Given the description of an element on the screen output the (x, y) to click on. 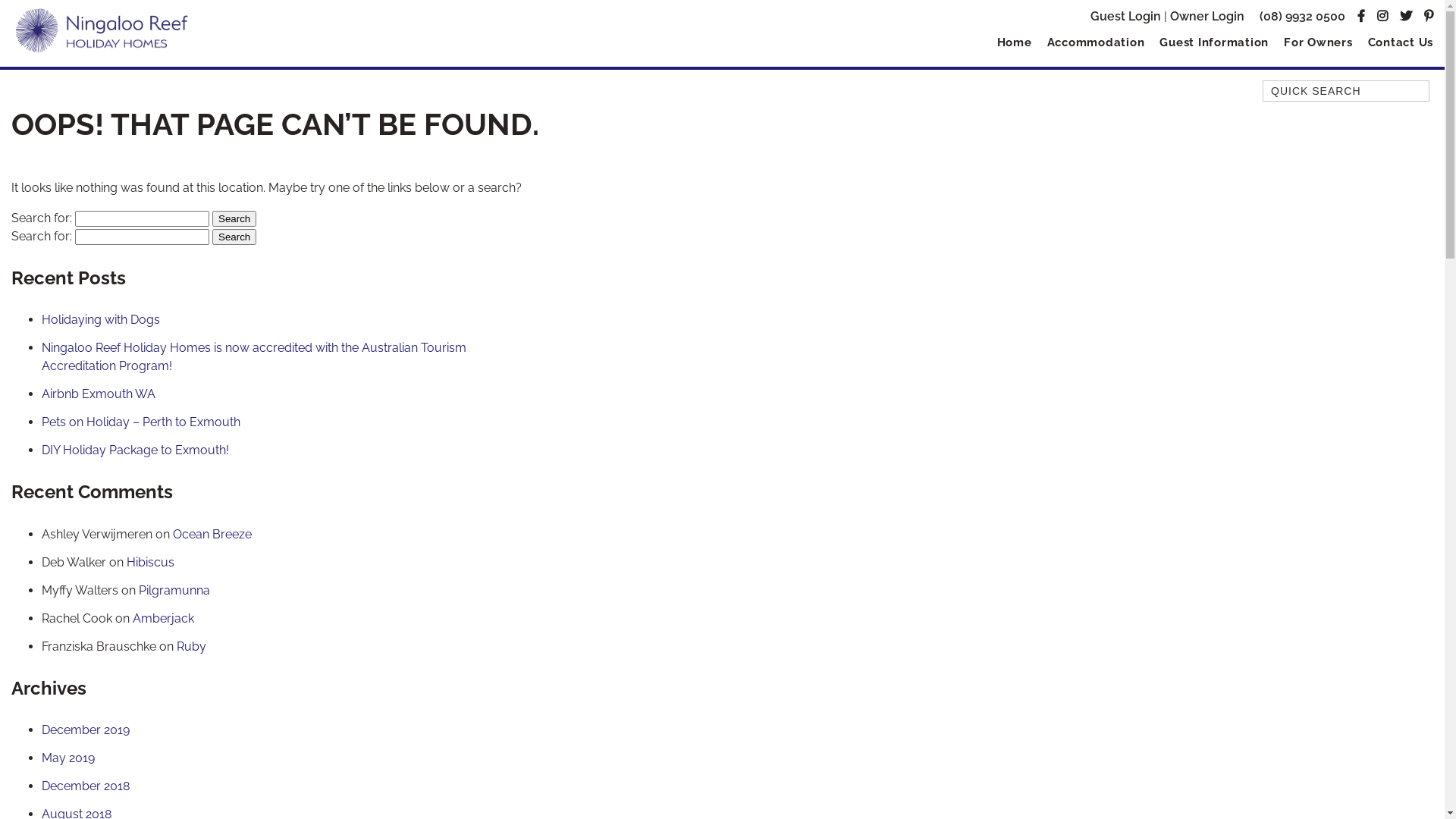
Pilgramunna Element type: text (174, 590)
For Owners Element type: text (1318, 42)
Search Element type: text (234, 218)
(08) 9932 0500 Element type: text (1302, 16)
Guest Login Element type: text (1125, 16)
Hibiscus Element type: text (150, 562)
Accommodation Element type: text (1094, 42)
Contact Us Element type: text (1397, 42)
Ruby Element type: text (191, 646)
Amberjack Element type: text (163, 618)
Owner Login Element type: text (1207, 16)
Home Element type: text (1013, 42)
May 2019 Element type: text (67, 757)
Ocean Breeze Element type: text (211, 534)
DIY Holiday Package to Exmouth! Element type: text (135, 449)
Guest Information Element type: text (1213, 42)
December 2018 Element type: text (85, 785)
Holidaying with Dogs Element type: text (100, 319)
December 2019 Element type: text (85, 729)
Airbnb Exmouth WA Element type: text (98, 393)
Search Element type: text (234, 236)
